Given the description of an element on the screen output the (x, y) to click on. 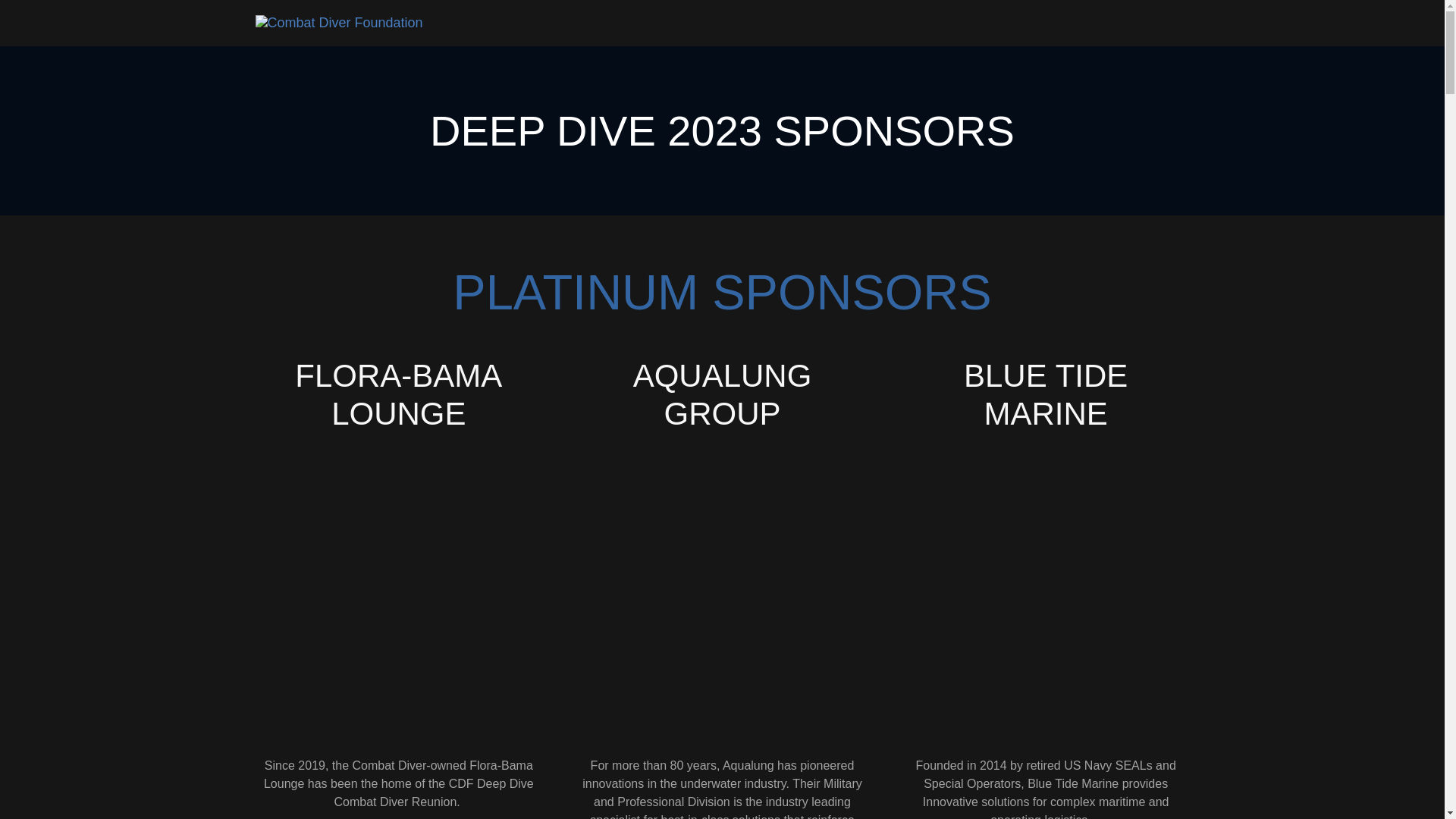
Combat Diver Foundation (338, 22)
